Given the description of an element on the screen output the (x, y) to click on. 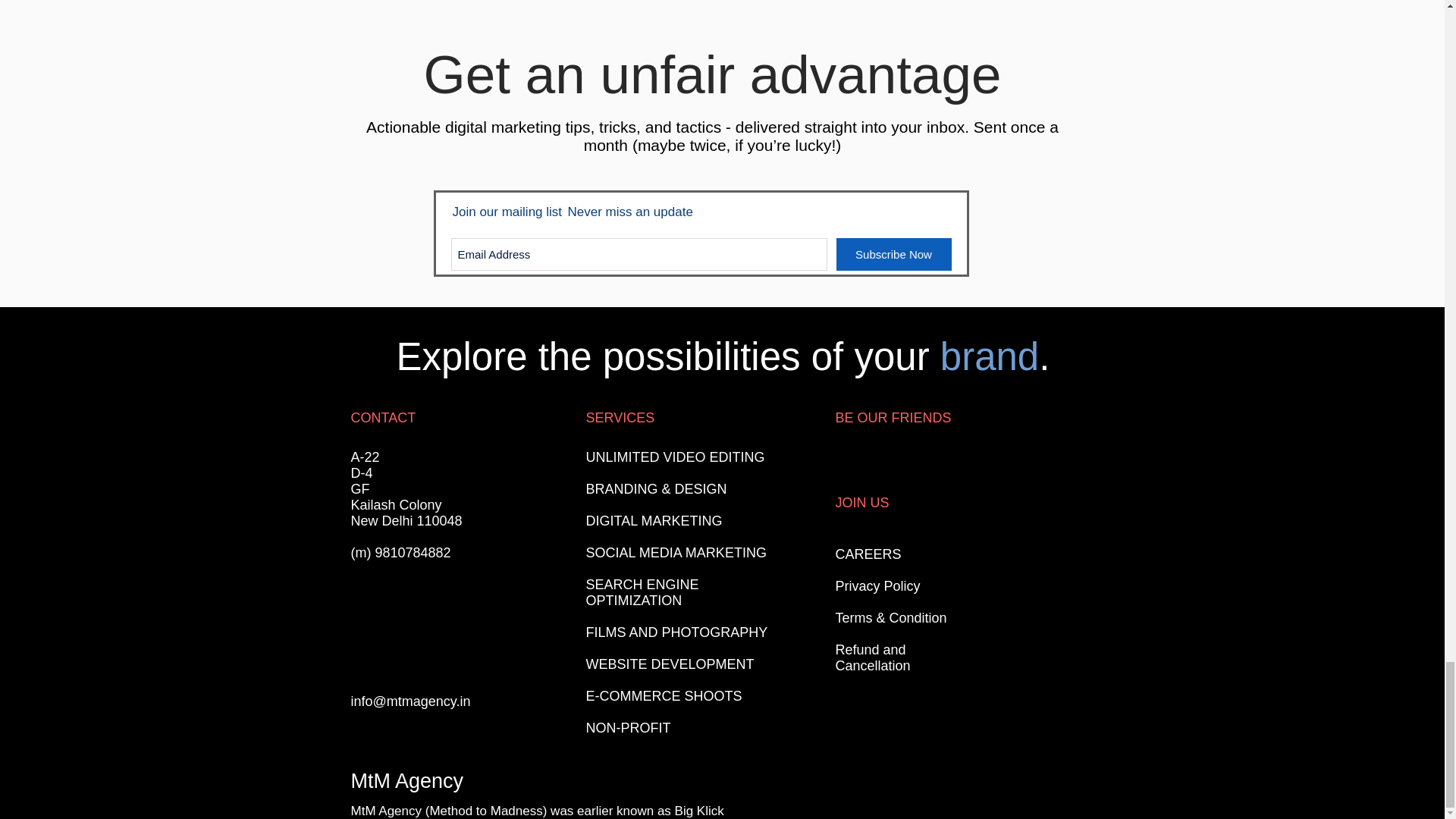
Subscribe Now (892, 254)
CAREERS (868, 554)
Refund and Cancellation (873, 657)
NON-PROFIT (627, 727)
SOCIAL MEDIA MARKETING (675, 552)
WEBSITE DEVELOPMENT (669, 663)
Privacy Policy (877, 585)
FILMS AND PHOTOGRAPHY (676, 631)
UNLIMITED VIDEO EDITING (674, 457)
E-COMMERCE SHOOTS (663, 695)
SEARCH ENGINE OPTIMIZATION (641, 592)
DIGITAL MARKETING (653, 520)
